Given the description of an element on the screen output the (x, y) to click on. 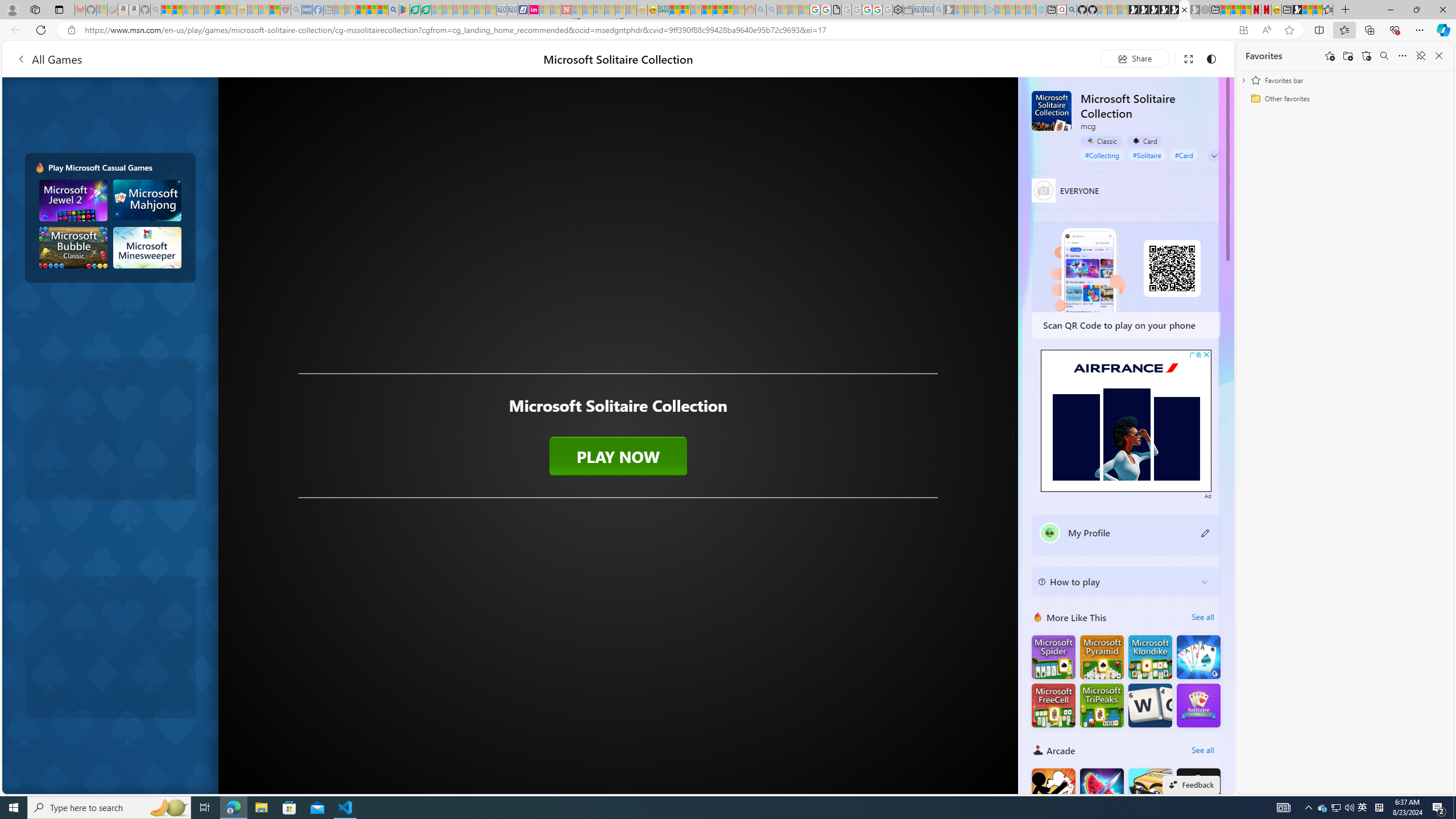
#Single Player (1227, 155)
More Like This (1037, 616)
Microsoft Bubble Classic (73, 247)
MSNBC - MSN - Sleeping (339, 9)
Class: image (617, 420)
Solitaire Champions (1198, 705)
""'s avatar (1049, 532)
All Games (49, 58)
